Given the description of an element on the screen output the (x, y) to click on. 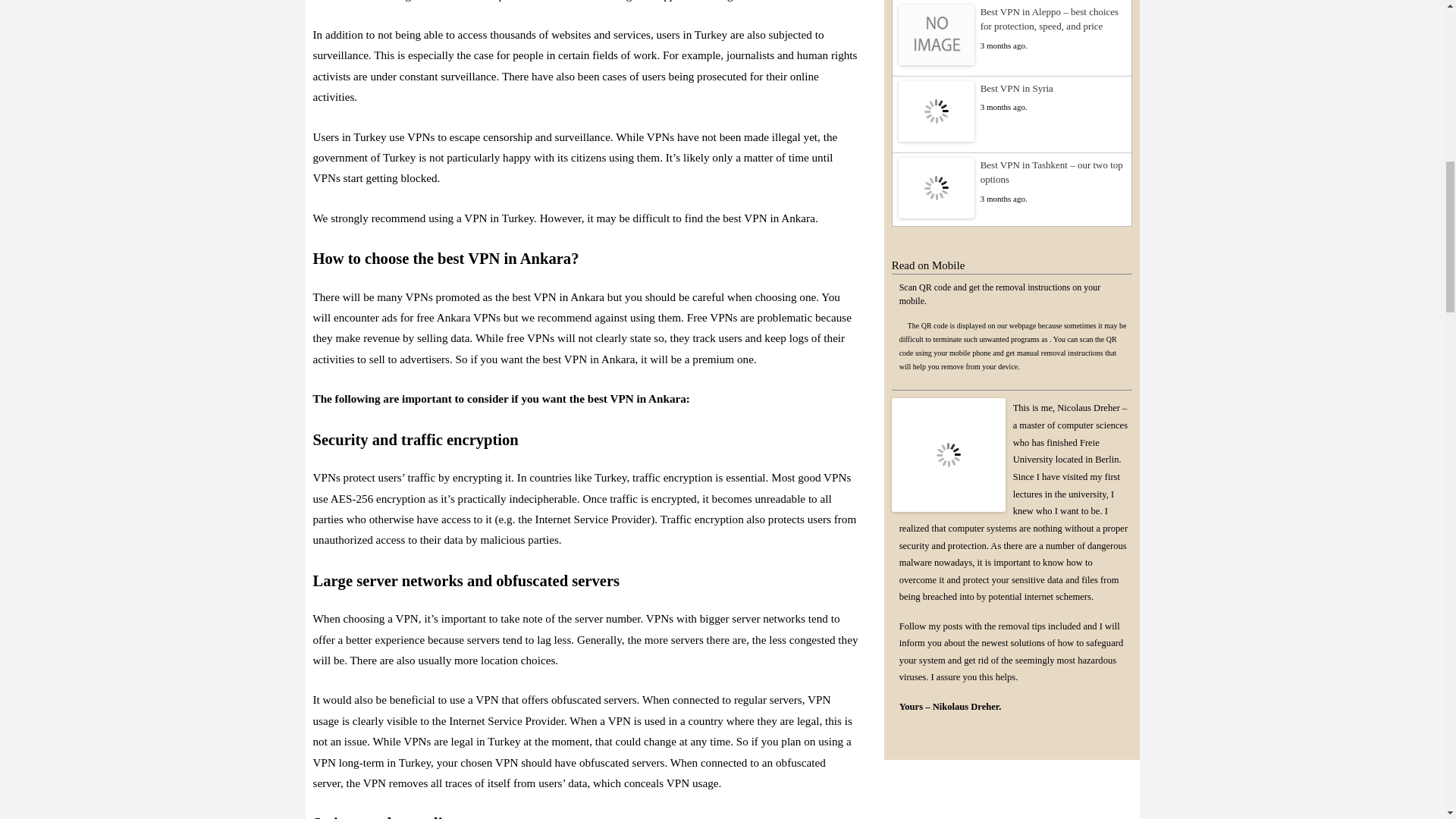
Best VPN in Syria (1011, 88)
